Given the description of an element on the screen output the (x, y) to click on. 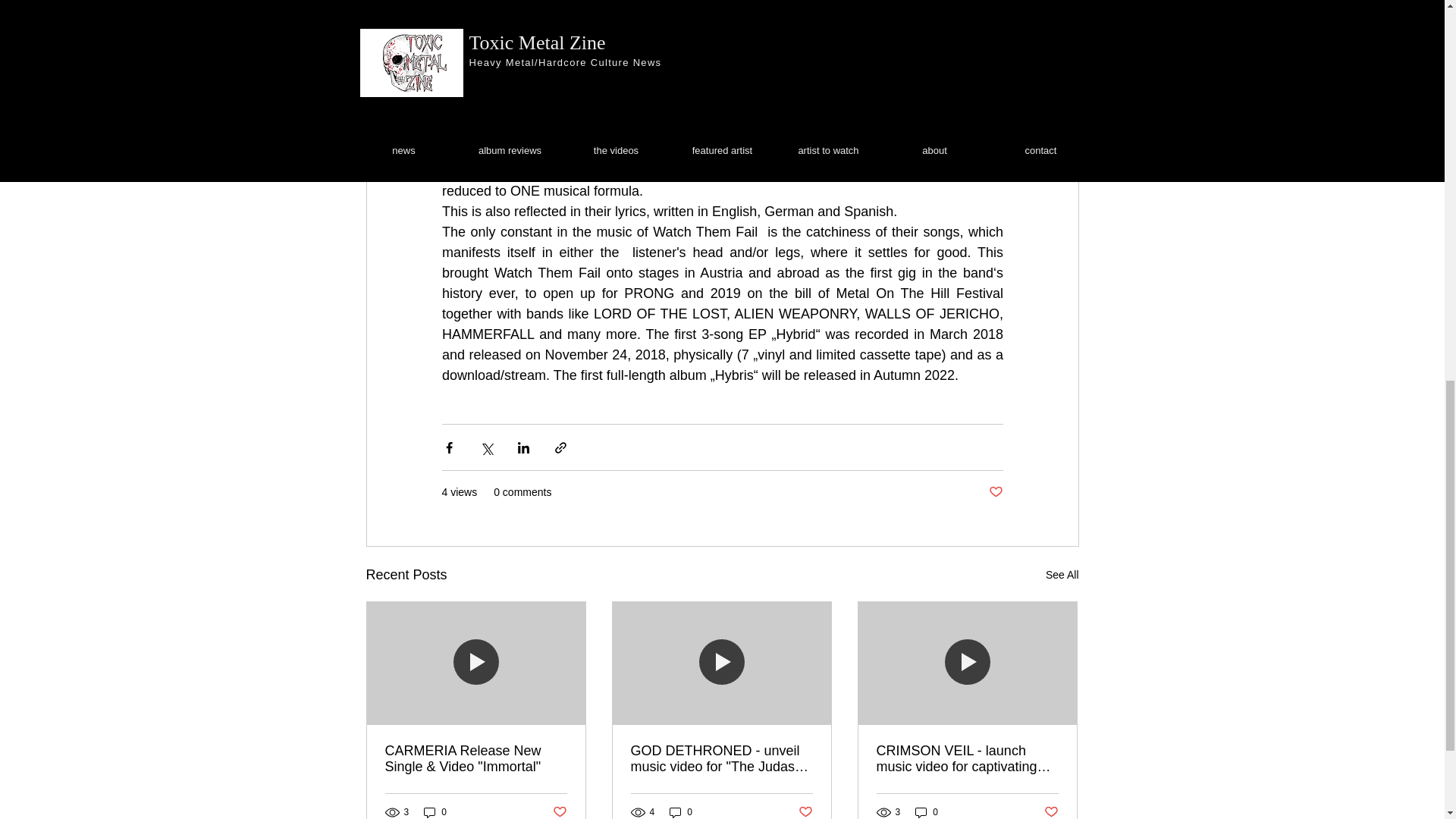
0 (435, 812)
Post not marked as liked (804, 811)
0 (681, 812)
0 (926, 812)
See All (1061, 575)
Post not marked as liked (558, 811)
Post not marked as liked (995, 492)
Post not marked as liked (1050, 811)
